Given the description of an element on the screen output the (x, y) to click on. 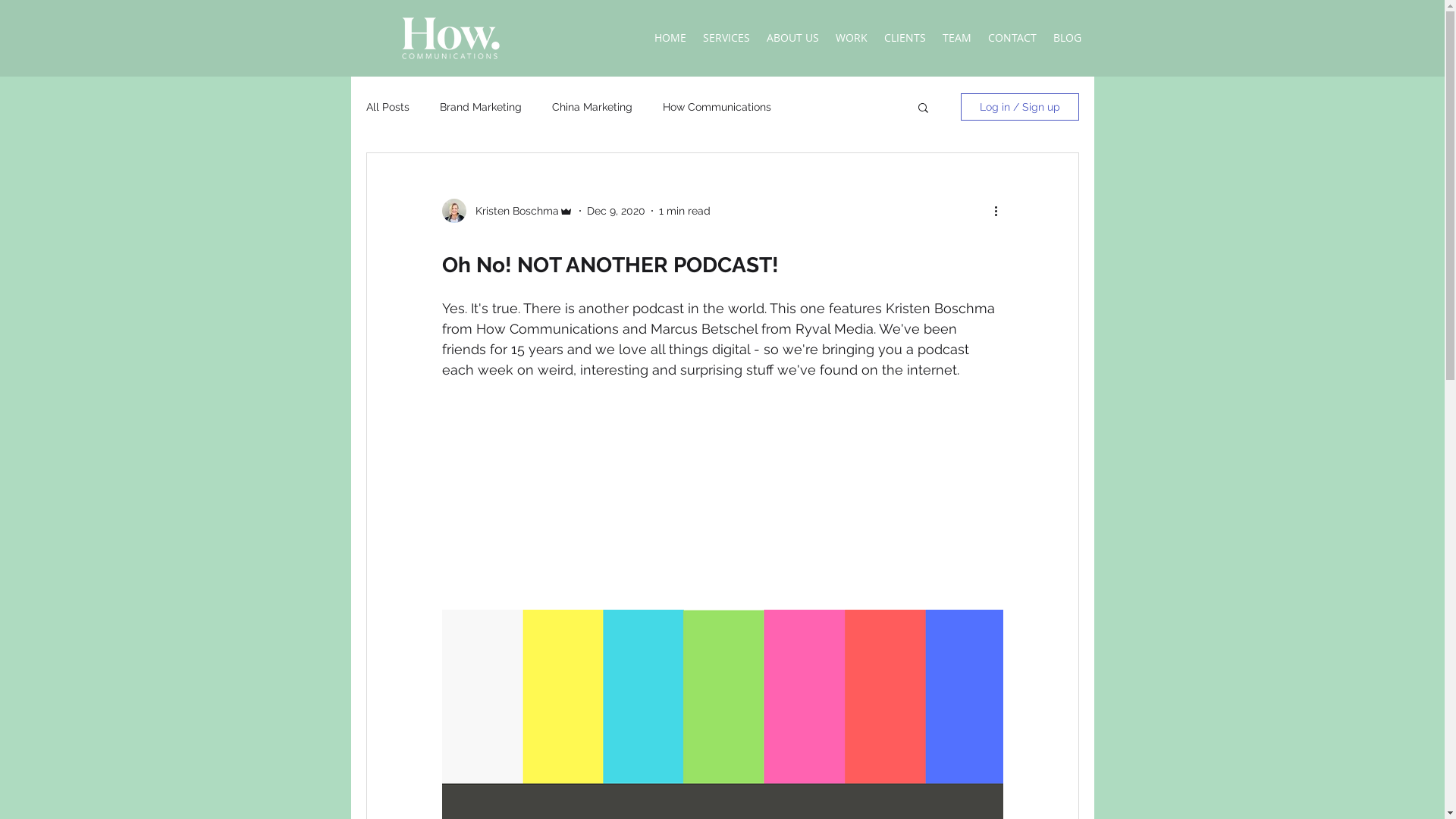
ABOUT US Element type: text (792, 37)
BLOG Element type: text (1066, 37)
TEAM Element type: text (956, 37)
CONTACT Element type: text (1011, 37)
Log in / Sign up Element type: text (1019, 106)
WORK Element type: text (850, 37)
Brand Marketing Element type: text (480, 106)
HOME Element type: text (670, 37)
How Communications Element type: text (716, 106)
All Posts Element type: text (386, 106)
SERVICES Element type: text (726, 37)
CLIENTS Element type: text (904, 37)
China Marketing Element type: text (592, 106)
